Given the description of an element on the screen output the (x, y) to click on. 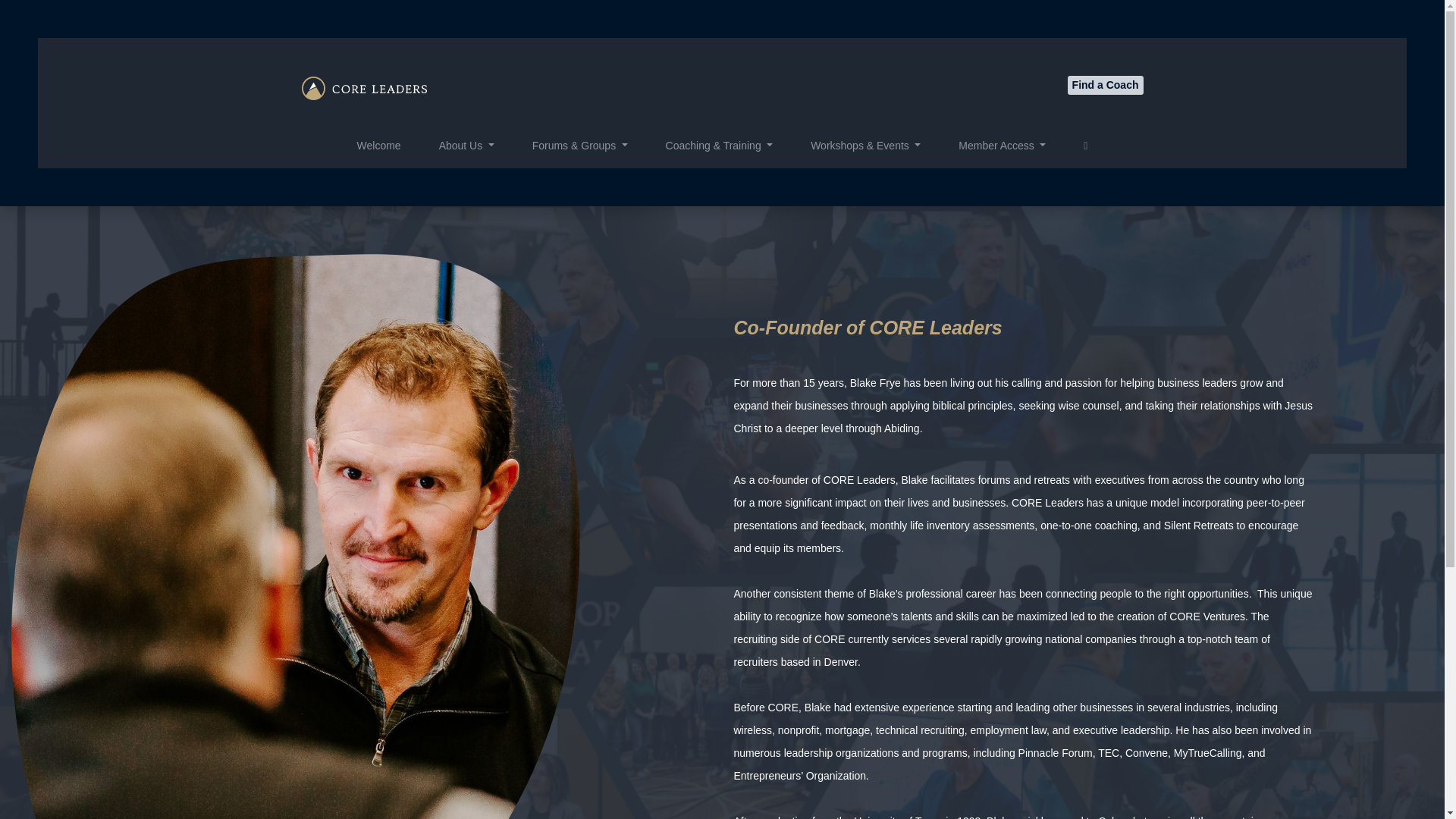
Member Access (1001, 145)
About Us (466, 145)
Core Leaders (364, 87)
Find a Coach (1104, 85)
Welcome (378, 145)
